Given the description of an element on the screen output the (x, y) to click on. 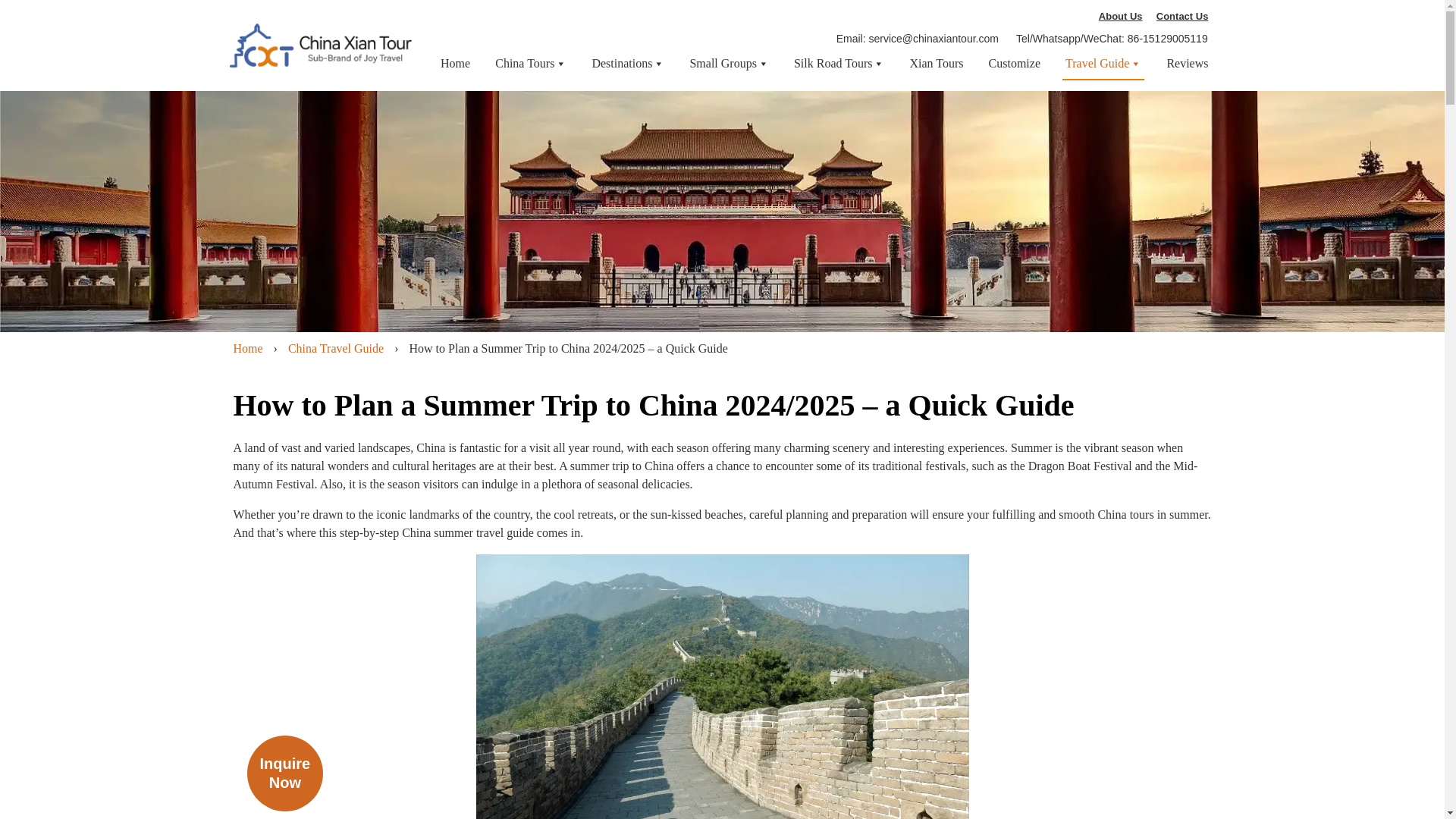
Destinations (627, 63)
Home (455, 63)
86-15129005119 (1167, 38)
About Us (1121, 15)
China Travel Guide (336, 347)
Contact Us (1182, 15)
Home (247, 347)
China Tours (530, 63)
